Given the description of an element on the screen output the (x, y) to click on. 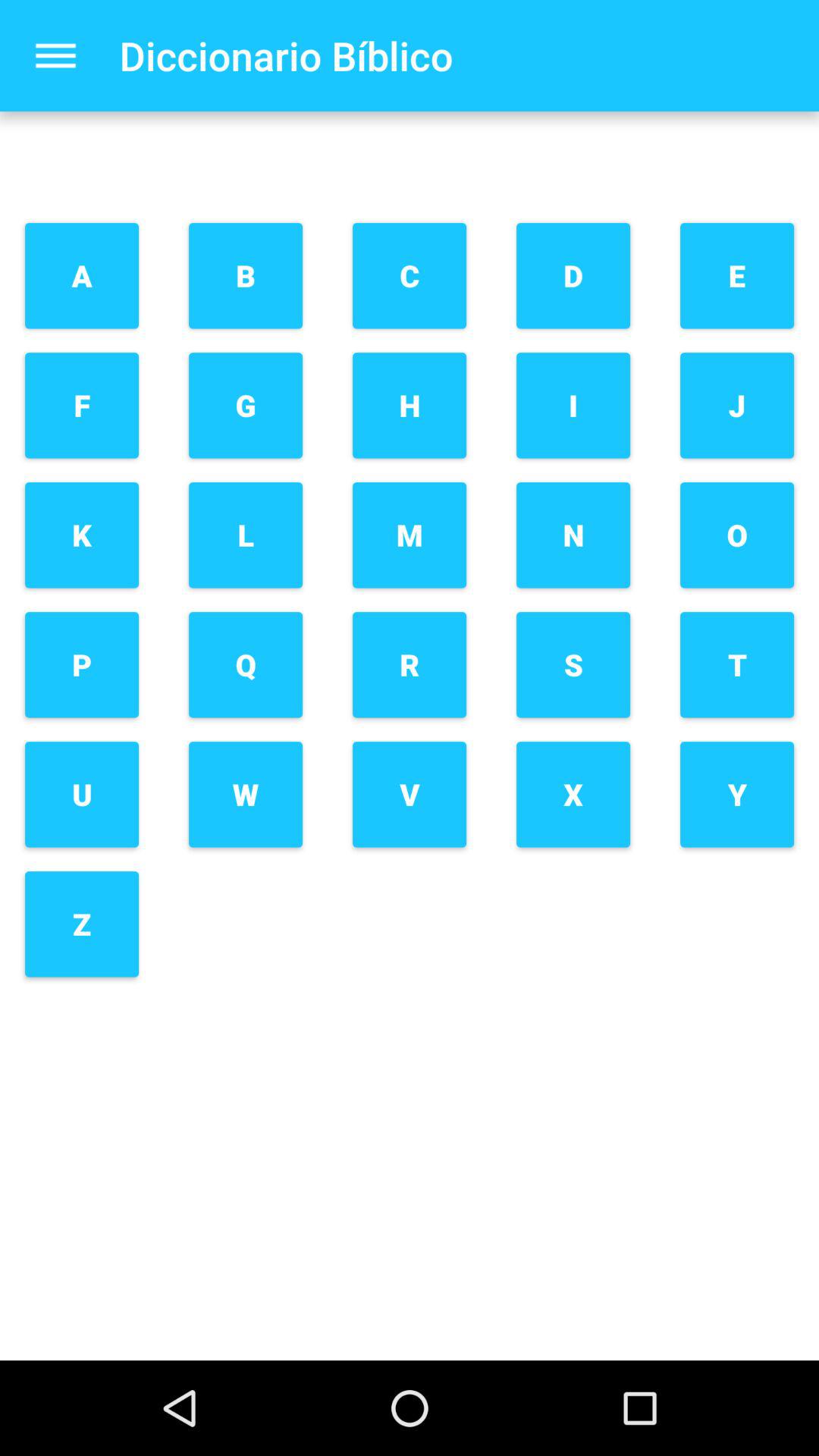
press button below k button (81, 664)
